Given the description of an element on the screen output the (x, y) to click on. 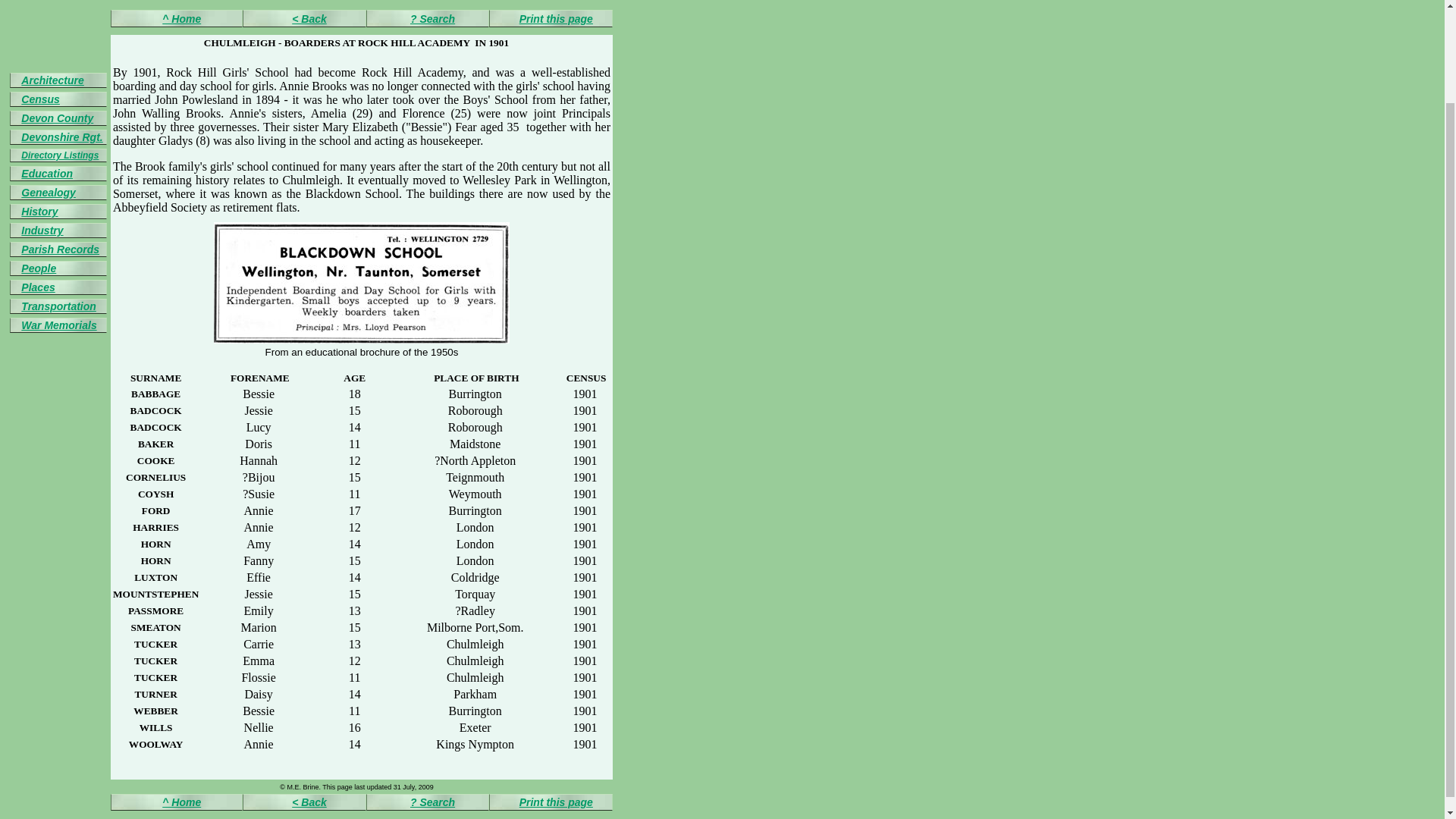
Print this page (555, 802)
Genealogy (48, 192)
Transportation (58, 306)
Parish Records (60, 249)
People (38, 268)
Directory Listings (60, 154)
Industry (41, 230)
? Search (432, 19)
War Memorials (58, 325)
Census (40, 99)
